Given the description of an element on the screen output the (x, y) to click on. 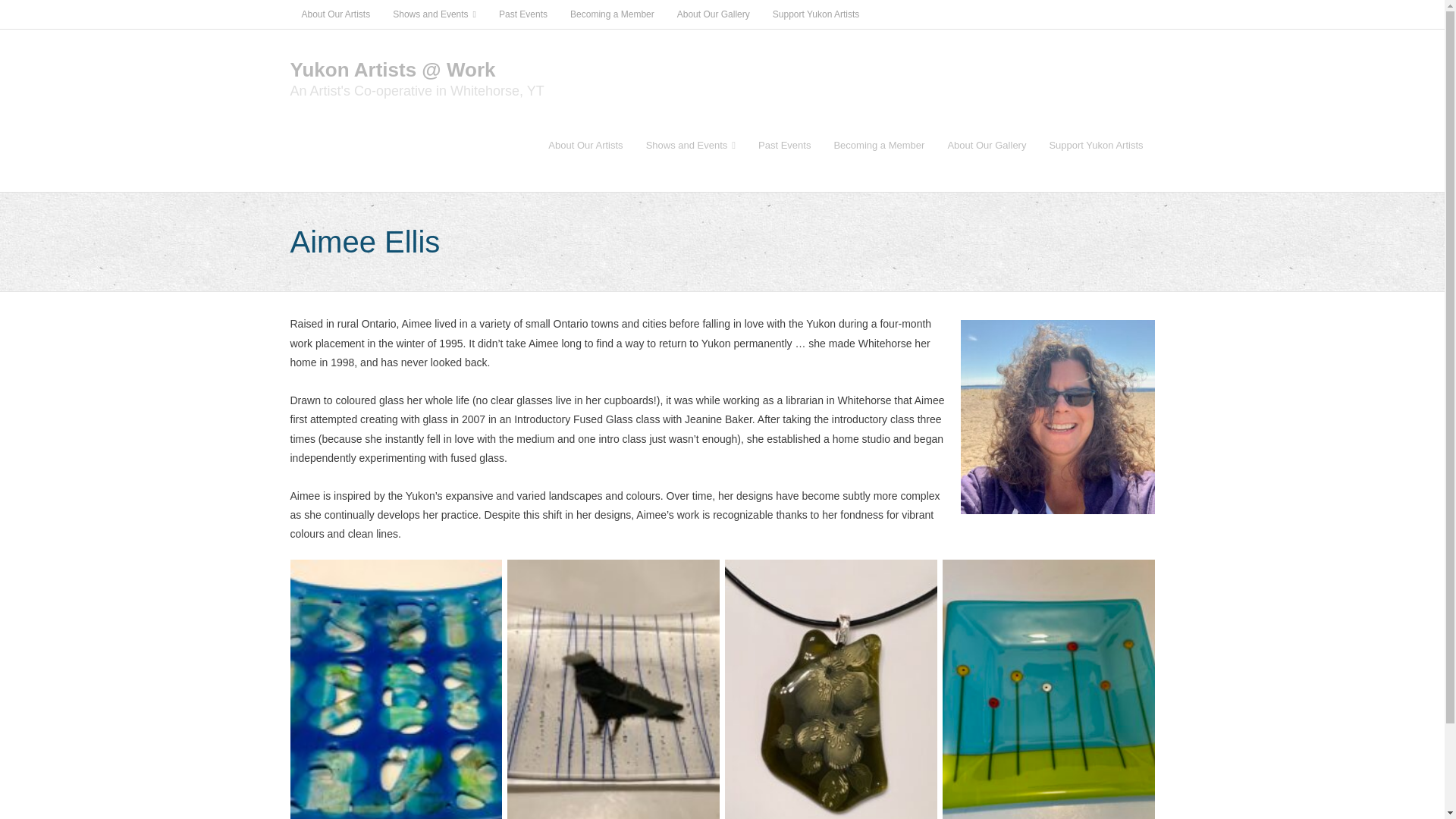
Becoming a Member (879, 144)
About Our Gallery (713, 14)
Becoming a Member (612, 14)
Past Events (523, 14)
Shows and Events (690, 144)
About Our Artists (335, 14)
About Our Artists (585, 144)
An Artist's Co-operative in Whitehorse, YT (416, 90)
Support Yukon Artists (1095, 144)
Shows and Events (434, 14)
